Given the description of an element on the screen output the (x, y) to click on. 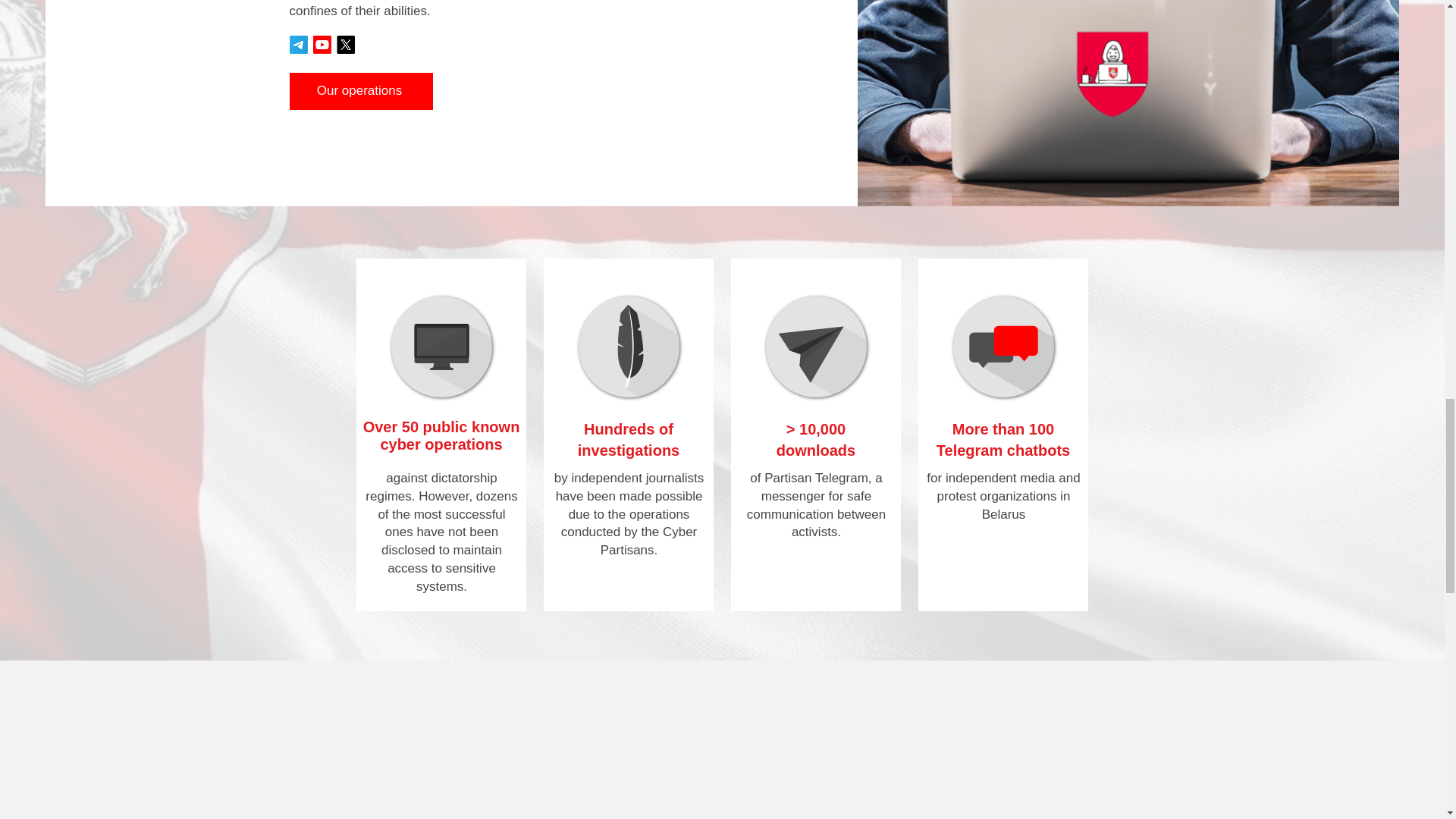
Our operations (360, 90)
